Given the description of an element on the screen output the (x, y) to click on. 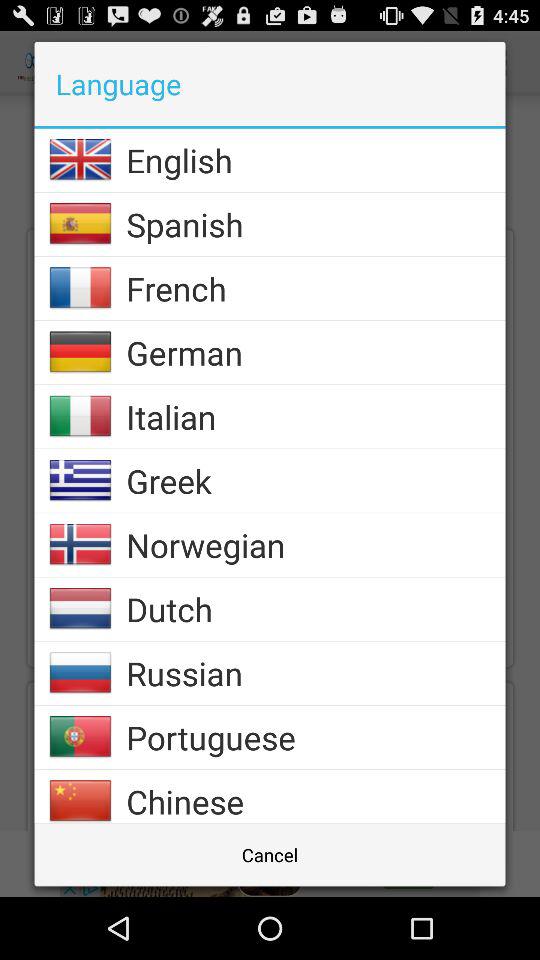
press the app above the greek (315, 416)
